Given the description of an element on the screen output the (x, y) to click on. 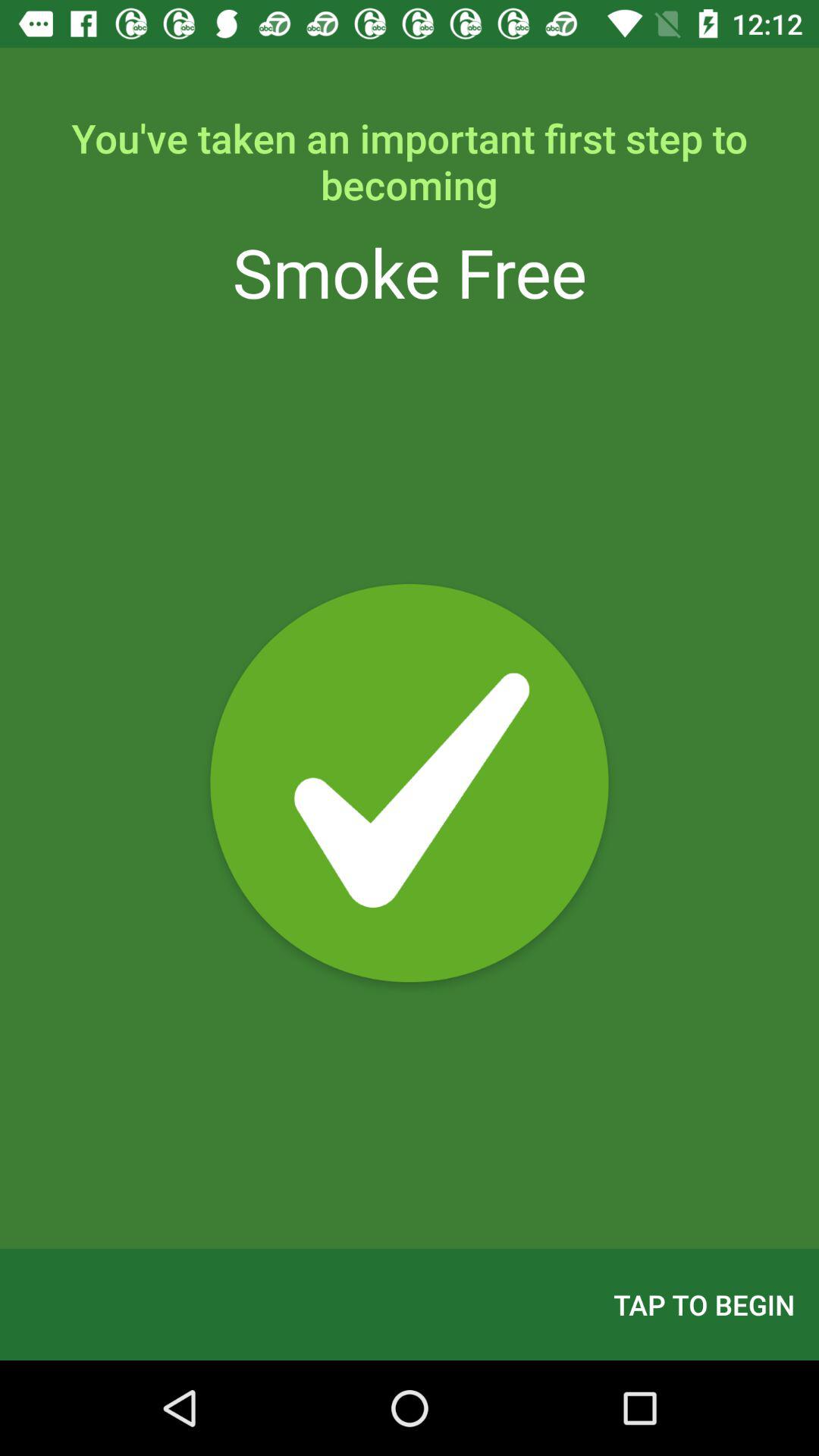
launch tap to begin (704, 1304)
